Given the description of an element on the screen output the (x, y) to click on. 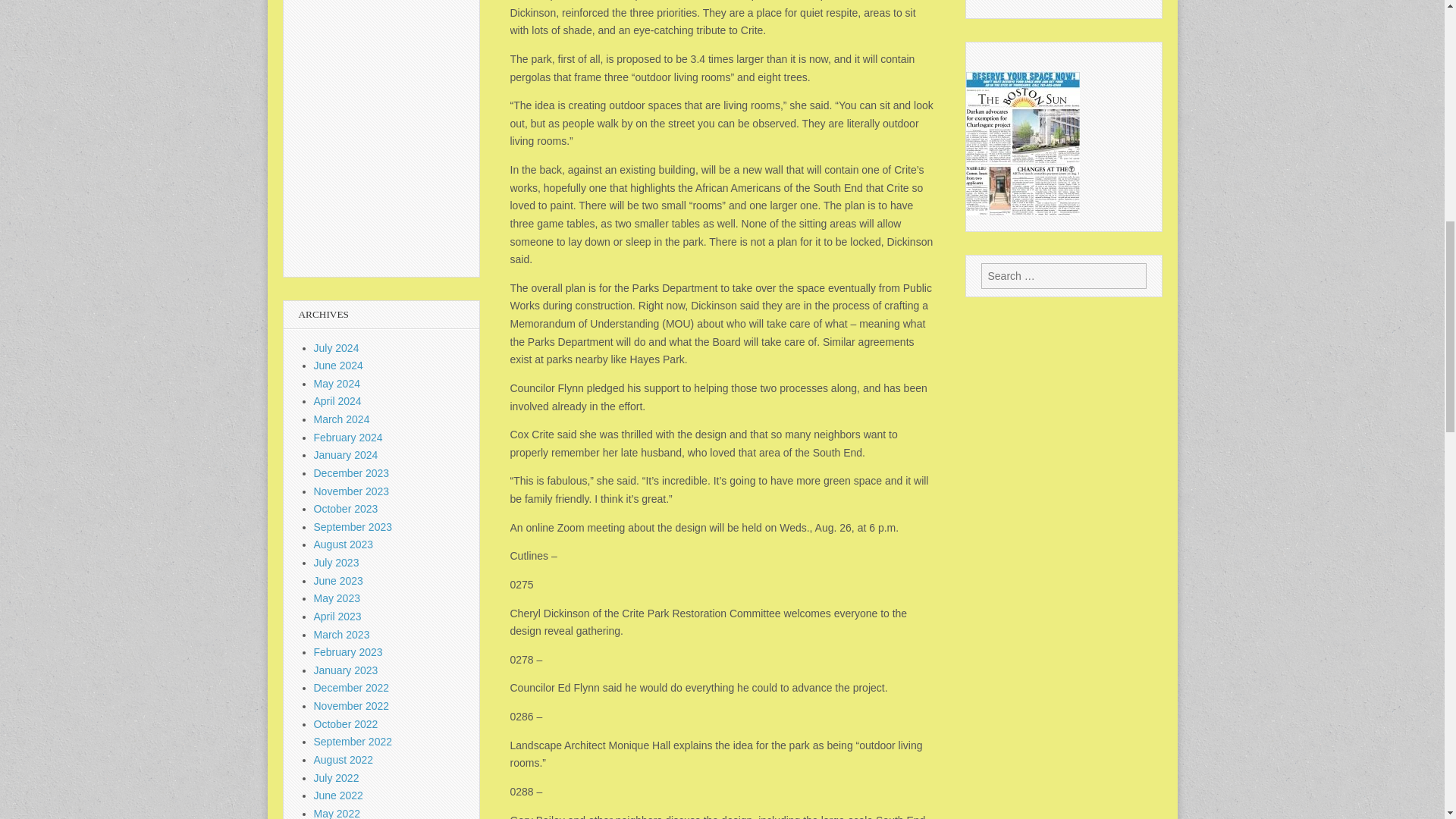
May 2024 (336, 383)
June 2024 (338, 365)
July 2024 (336, 347)
February 2024 (348, 437)
April 2024 (337, 400)
March 2024 (341, 419)
December 2023 (352, 472)
January 2024 (346, 454)
